Given the description of an element on the screen output the (x, y) to click on. 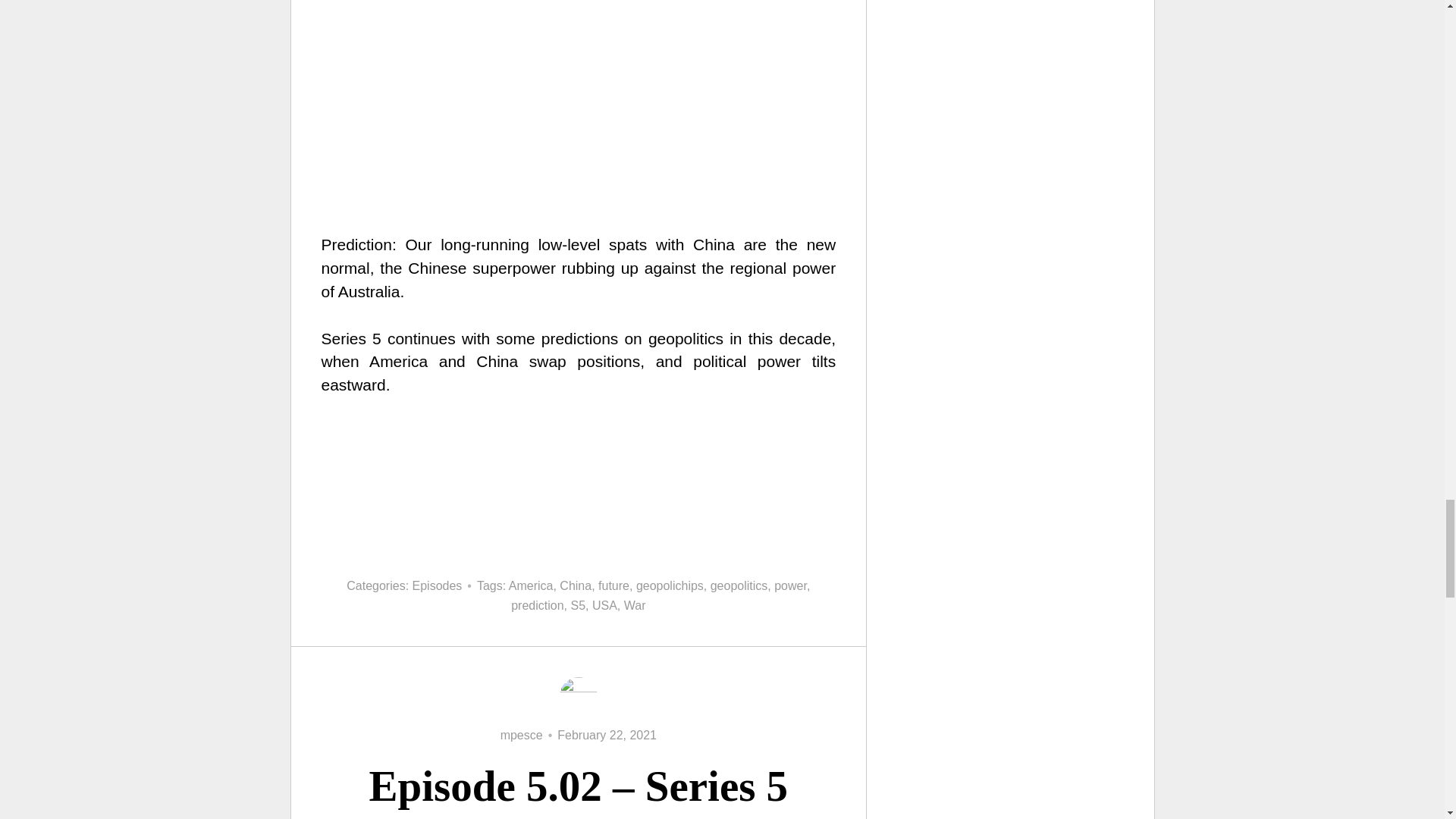
Can we make friends with a superpower China? (578, 486)
